Given the description of an element on the screen output the (x, y) to click on. 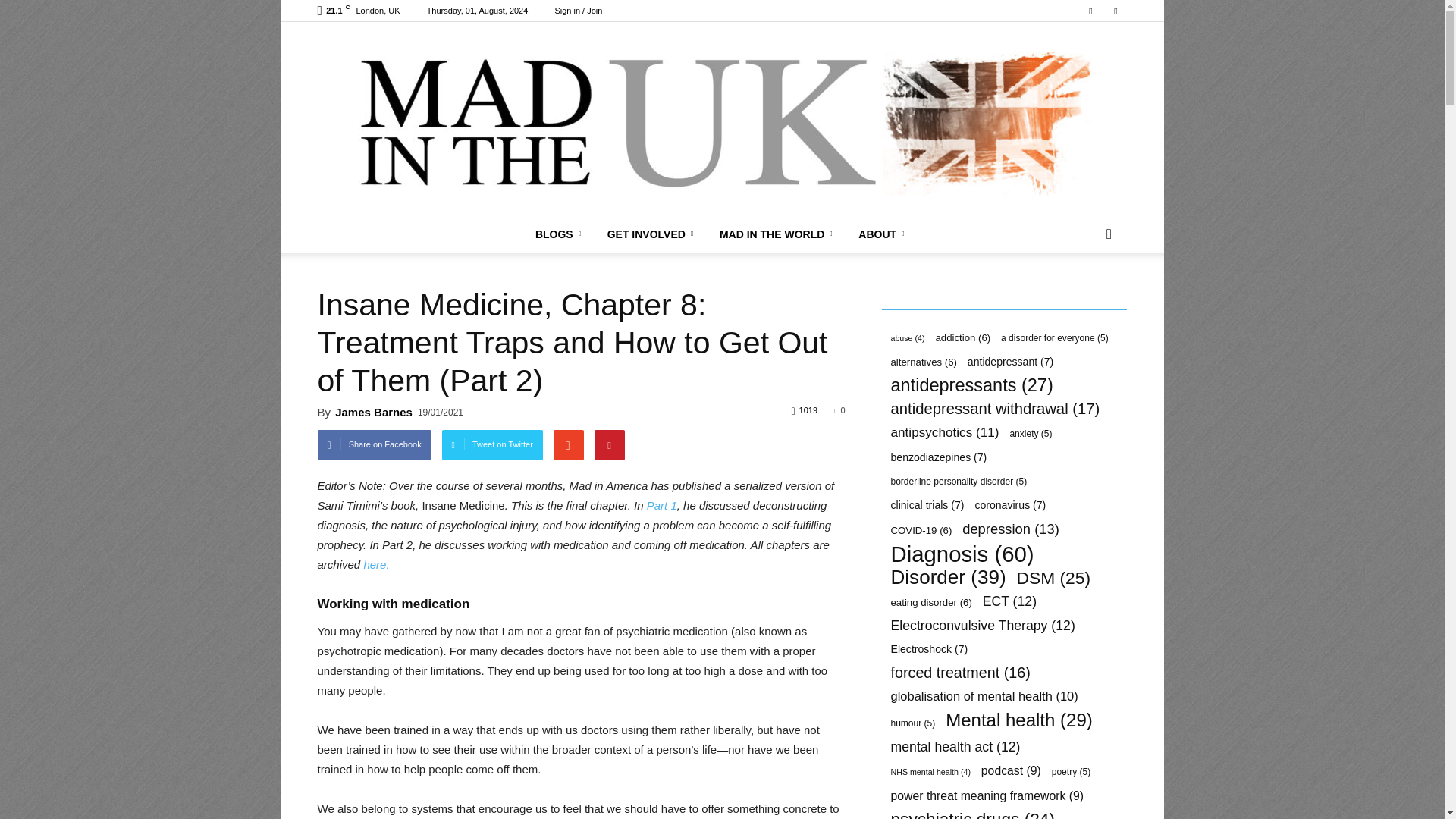
Twitter (1114, 10)
Posts by James Barnes (373, 411)
Facebook (1090, 10)
